Given the description of an element on the screen output the (x, y) to click on. 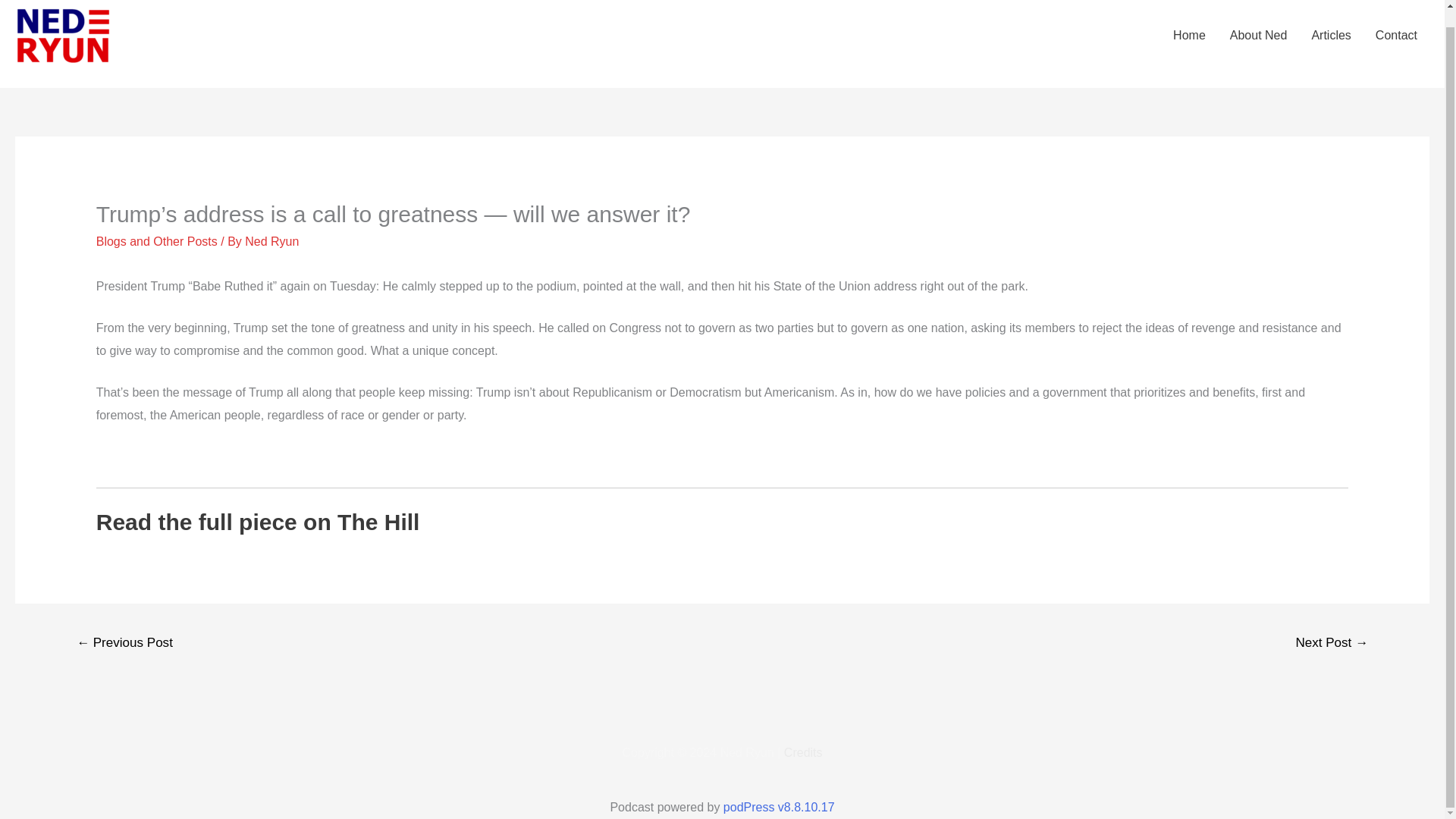
Contact (1395, 35)
Articles (1330, 35)
Credits (803, 752)
podPress, a plugin for podcasting with WordPress (778, 807)
Home (1188, 35)
podPress v8.8.10.17 (778, 807)
View all posts by Ned Ryun (271, 241)
Blogs and Other Posts (156, 241)
About Ned (1258, 35)
Ned Ryun (271, 241)
